Given the description of an element on the screen output the (x, y) to click on. 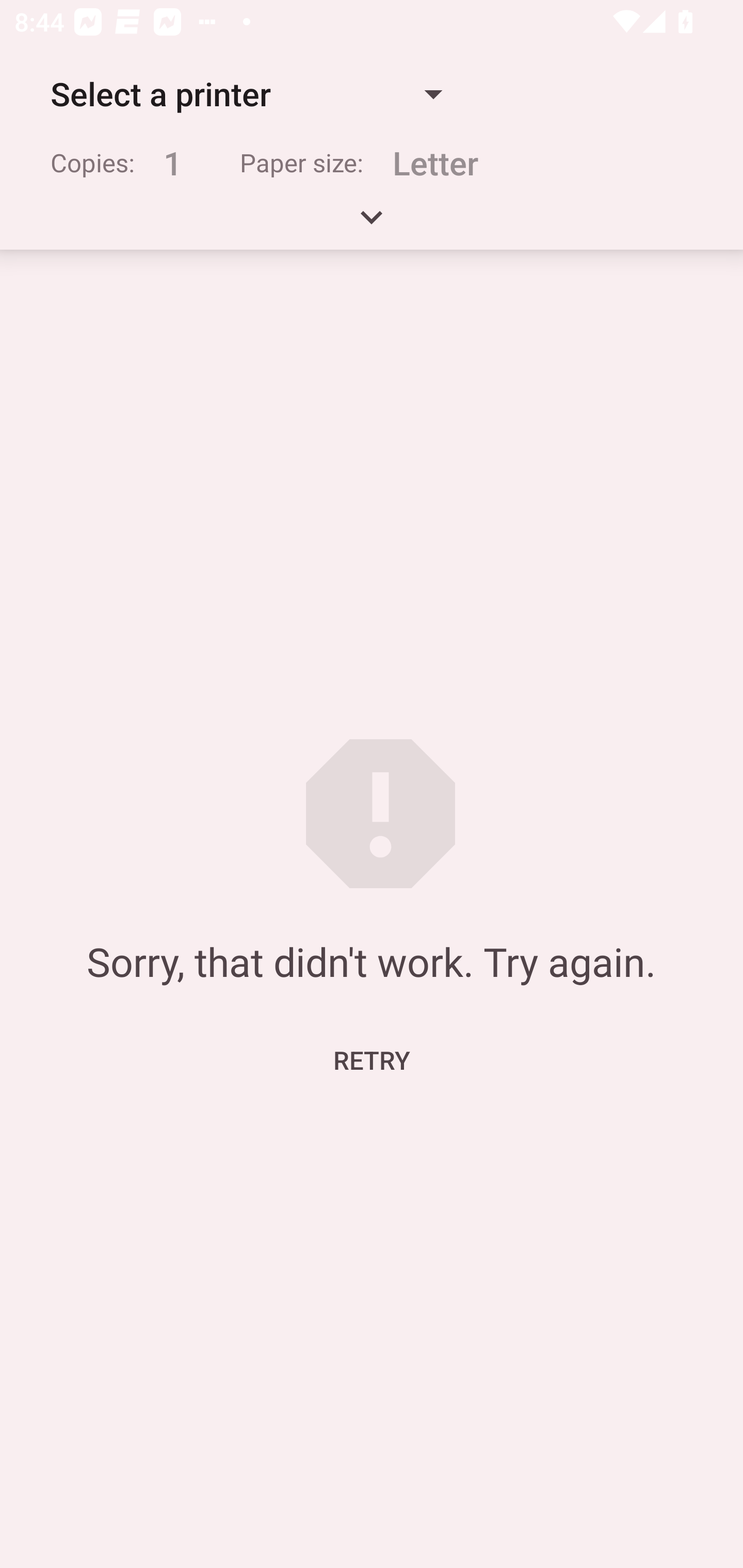
Select a printer (245, 93)
Expand handle (371, 224)
RETRY (371, 1059)
